Given the description of an element on the screen output the (x, y) to click on. 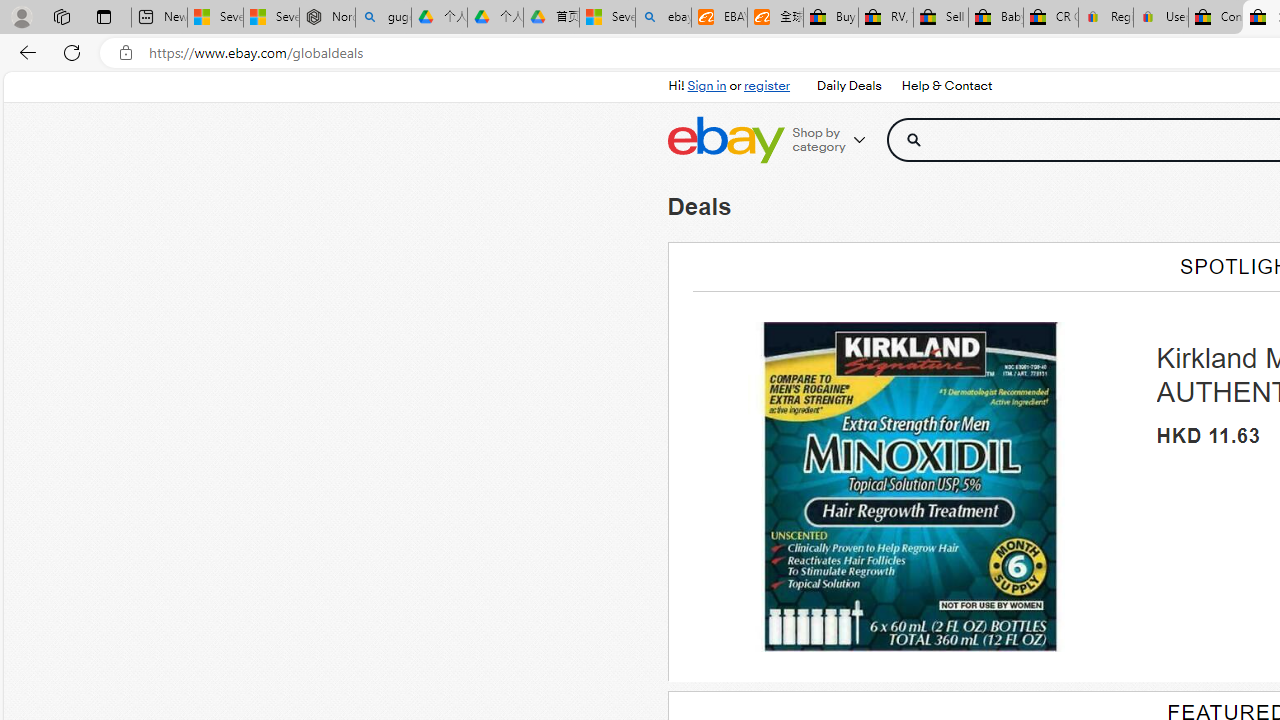
Daily Deals (848, 85)
Sell worldwide with eBay (940, 17)
RV, Trailer & Camper Steps & Ladders for sale | eBay (885, 17)
